Given the description of an element on the screen output the (x, y) to click on. 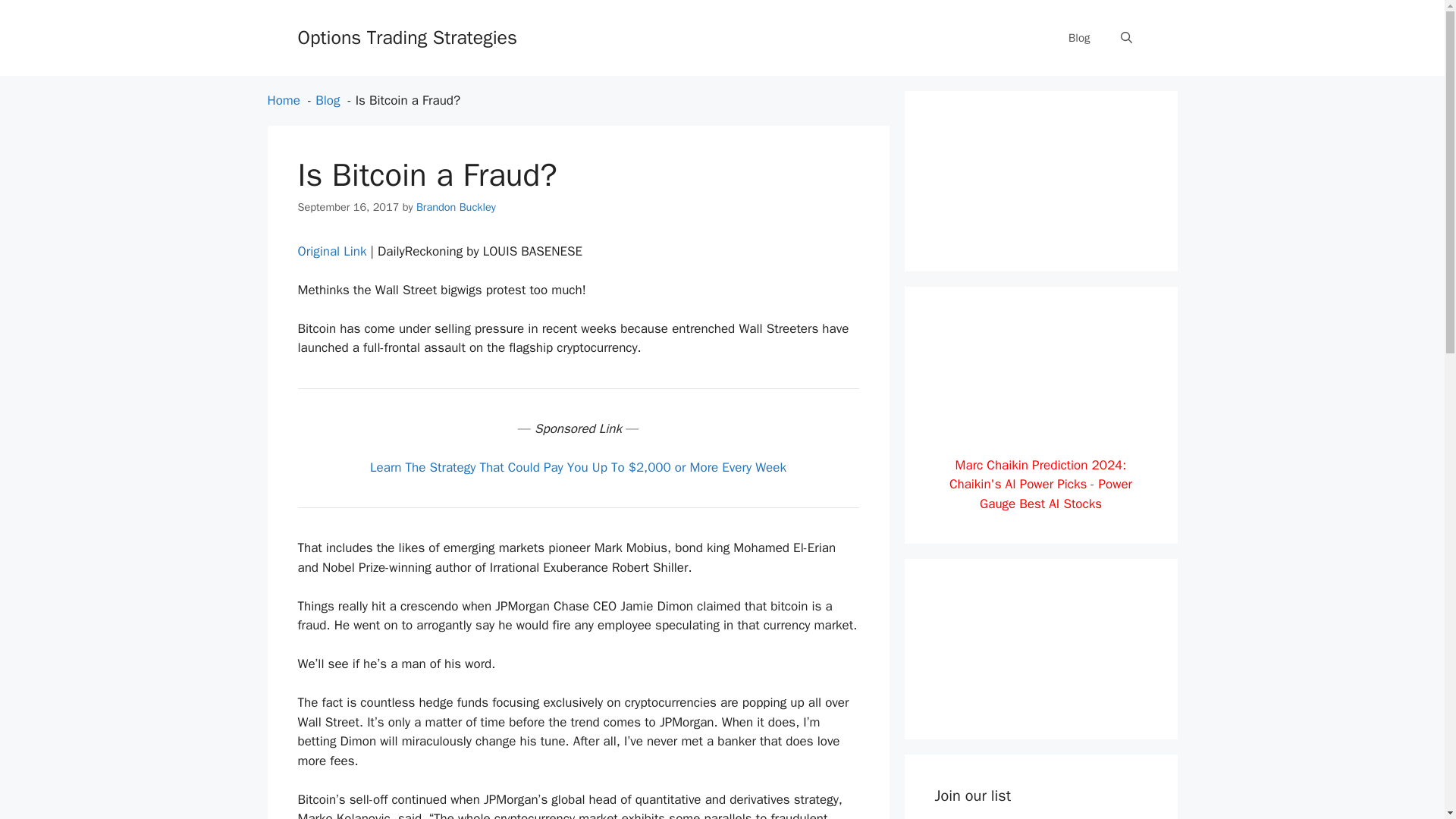
Home (282, 100)
Brandon Buckley (456, 206)
Original Link (331, 251)
Manward Money Report Review (1040, 698)
Blog (327, 100)
Blog (1078, 37)
View all posts by Brandon Buckley (456, 206)
Options Trading Strategies (406, 37)
